Given the description of an element on the screen output the (x, y) to click on. 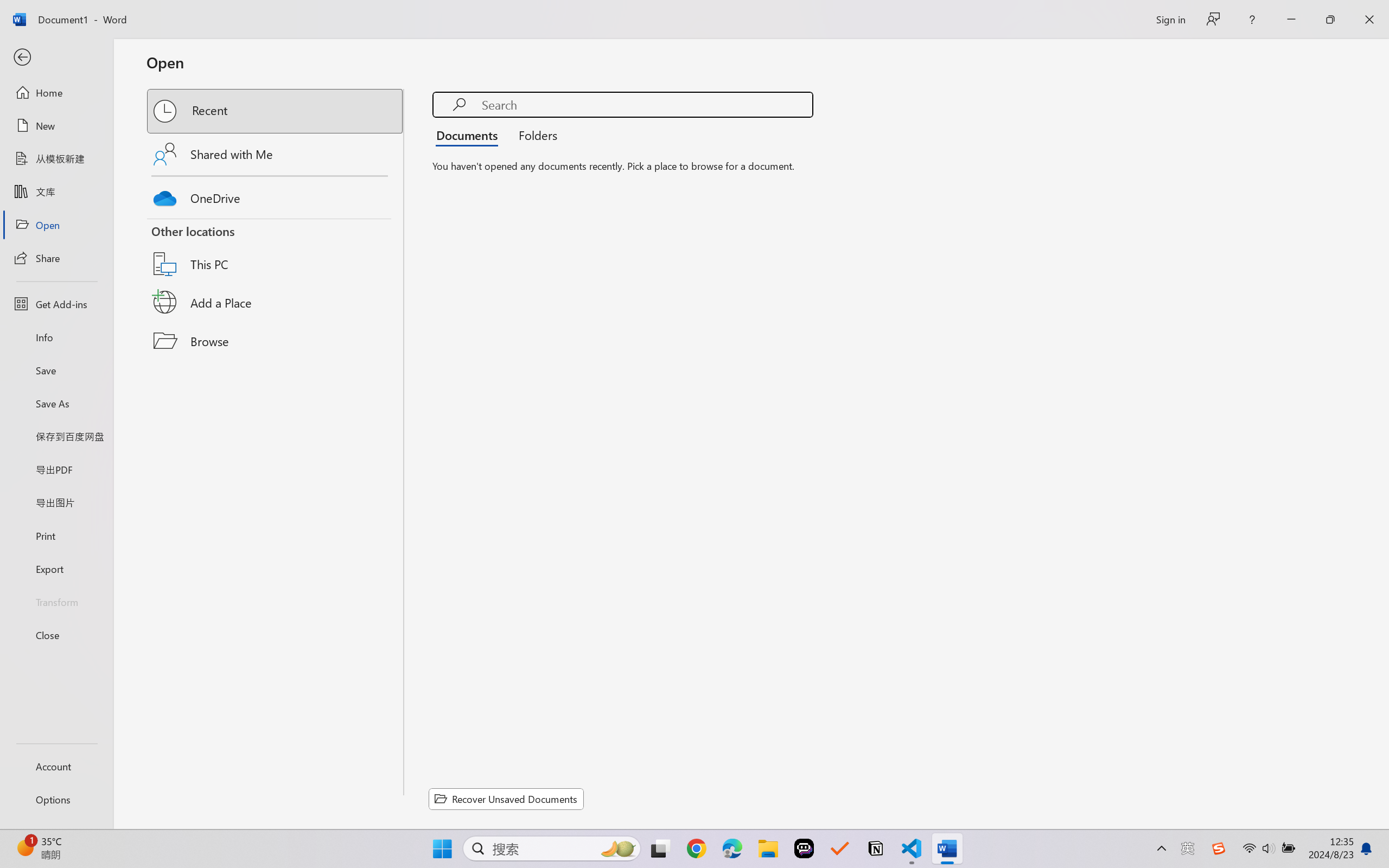
Options (56, 798)
Shared with Me (275, 153)
Recent (275, 110)
Get Add-ins (56, 303)
Documents (469, 134)
Account (56, 765)
Export (56, 568)
